Given the description of an element on the screen output the (x, y) to click on. 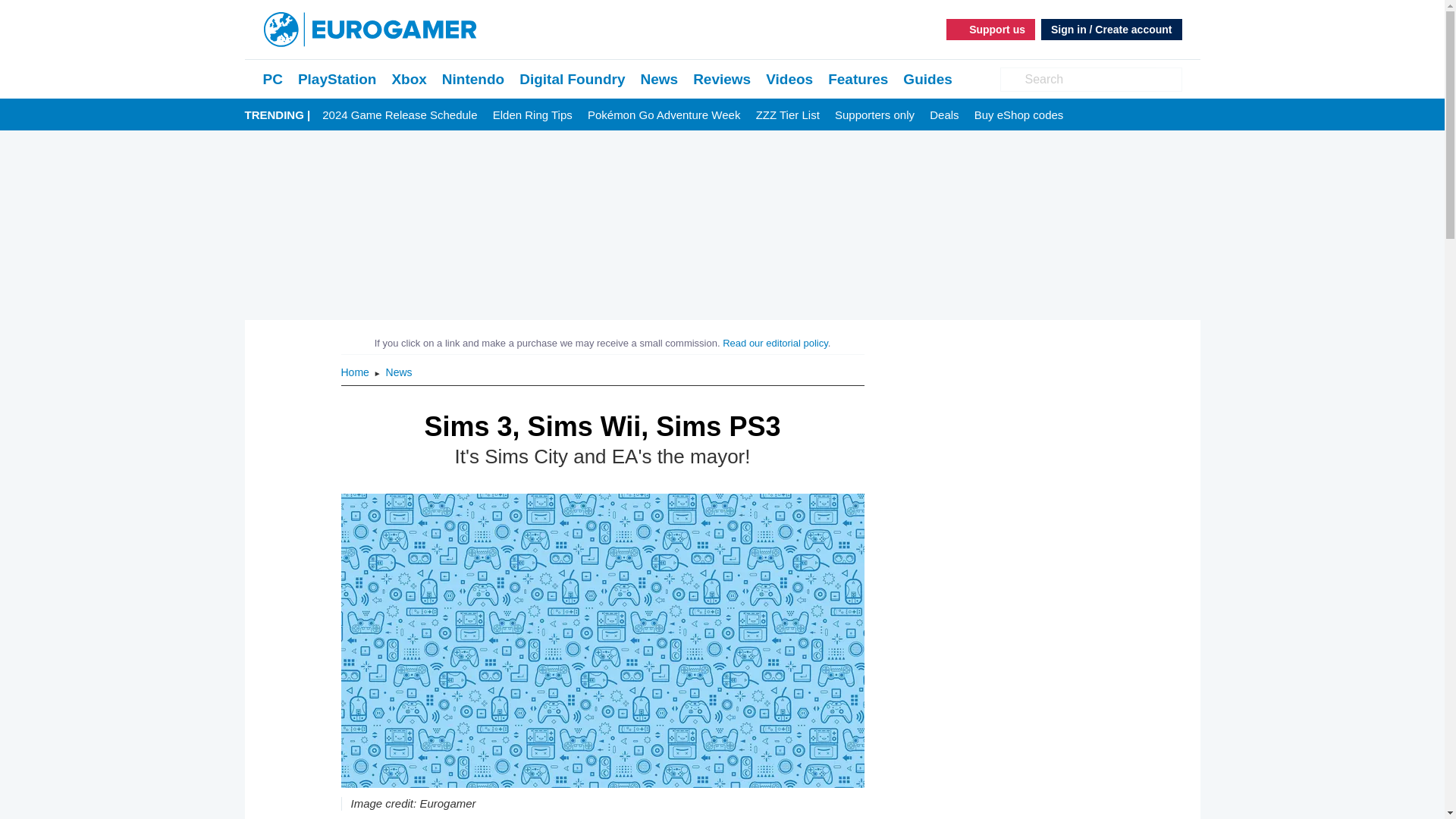
Support us (990, 29)
Buy eShop codes (1019, 114)
Home (356, 372)
Features (858, 78)
2024 Game Release Schedule (399, 114)
Deals (944, 114)
News (398, 372)
Supporters only (874, 114)
Supporters only (874, 114)
Features (858, 78)
